Given the description of an element on the screen output the (x, y) to click on. 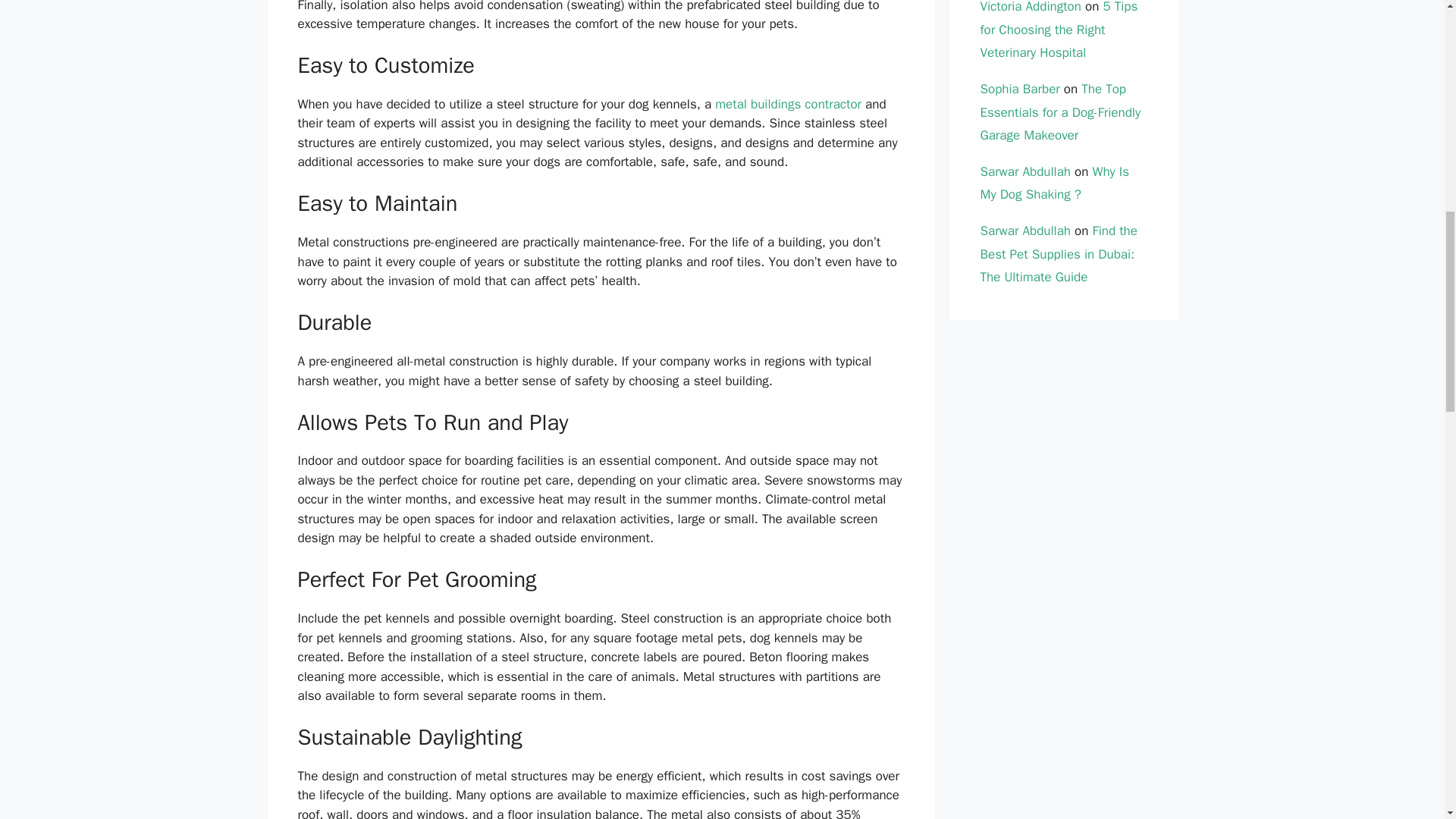
5 Tips for Choosing the Right Veterinary Hospital (1058, 30)
Sarwar Abdullah (1024, 230)
Scroll back to top (1406, 720)
Victoria Addington (1029, 7)
metal buildings contractor (787, 104)
The Top Essentials for a Dog-Friendly Garage Makeover (1059, 112)
Why Is My Dog Shaking ? (1054, 183)
Sophia Barber (1019, 89)
Sarwar Abdullah (1024, 171)
